Given the description of an element on the screen output the (x, y) to click on. 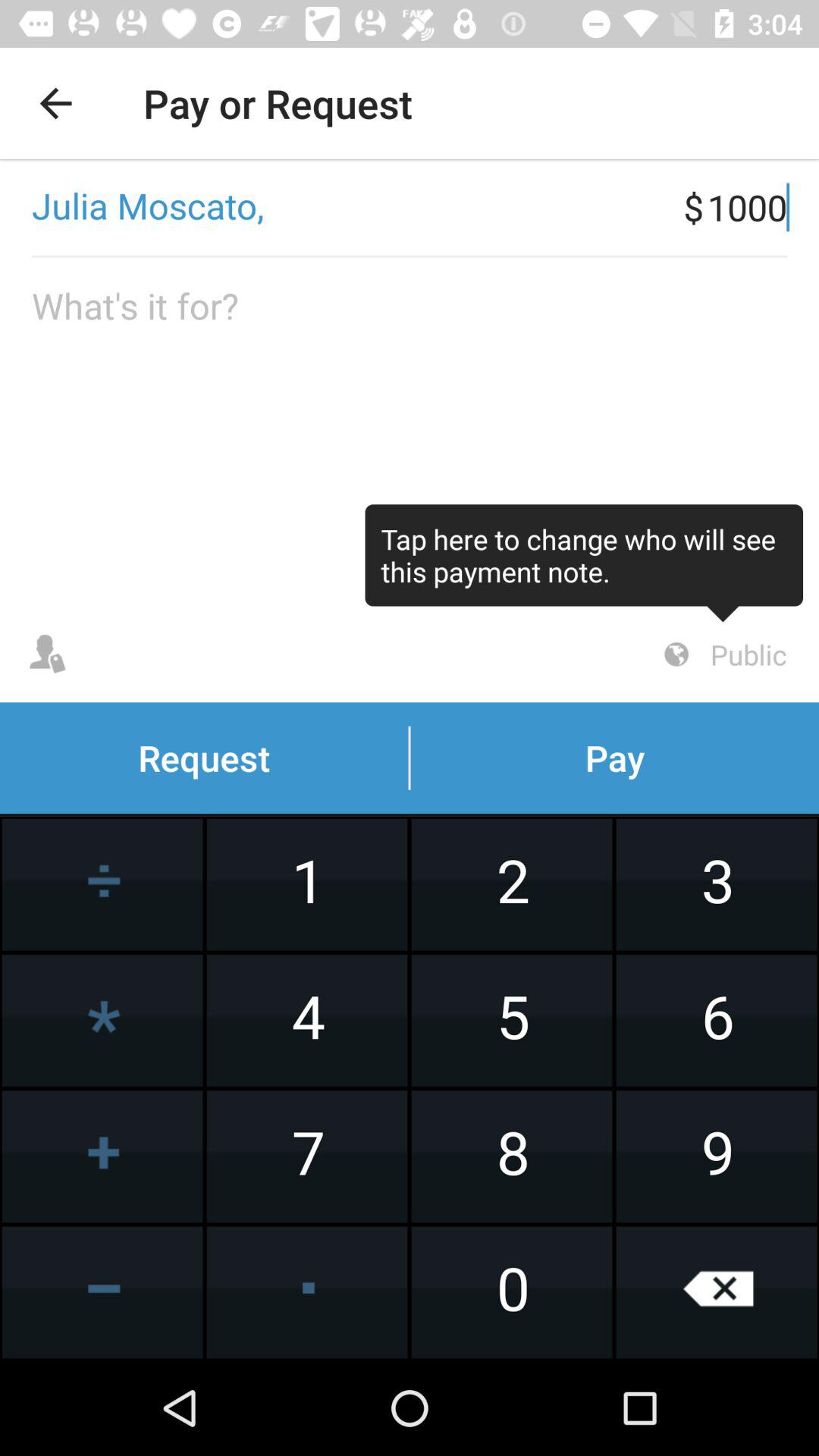
press item to the left of the pay or request (55, 103)
